Given the description of an element on the screen output the (x, y) to click on. 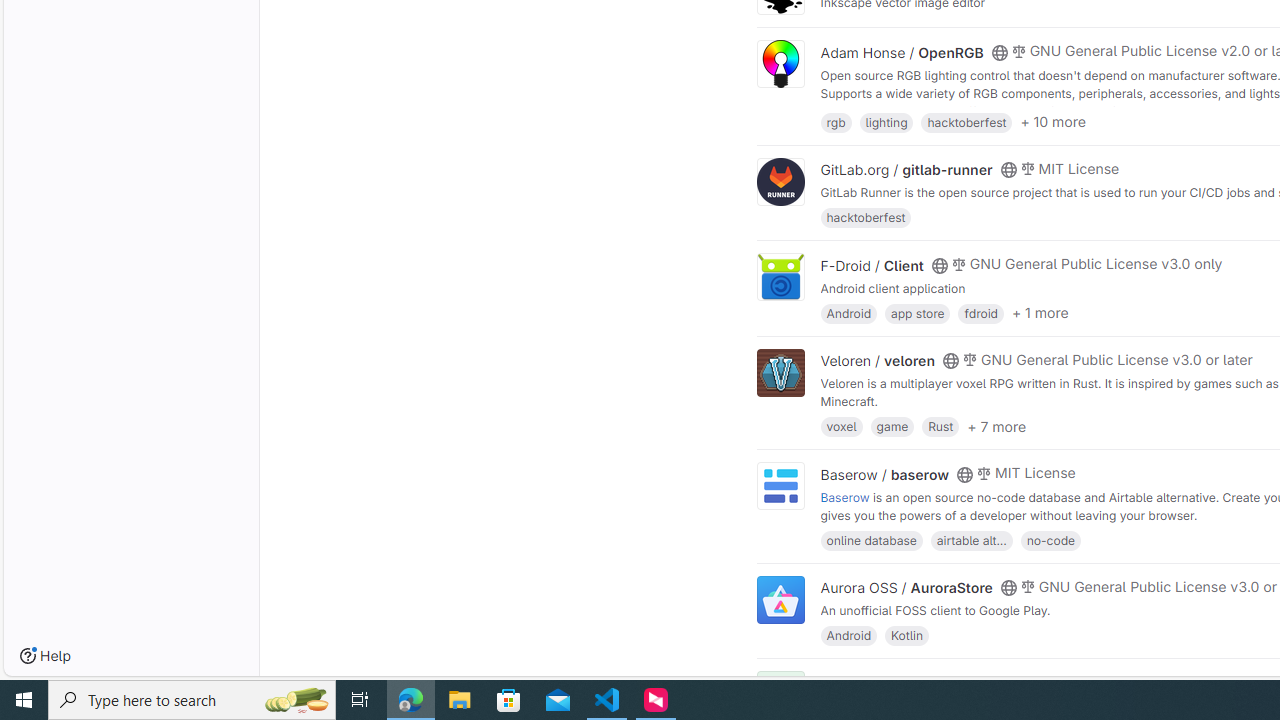
Baserow (845, 496)
hacktoberfest (866, 217)
online database (871, 539)
Rust (940, 426)
GitLab.org / gitlab-runner (906, 170)
+ 7 more (996, 425)
Kotlin (907, 634)
game (892, 426)
https://openrgb.org (989, 110)
Baserow / baserow (884, 474)
lighting (886, 120)
voxel (841, 426)
Class: project (780, 599)
F-Droid / Client (872, 265)
no-code (1050, 539)
